Given the description of an element on the screen output the (x, y) to click on. 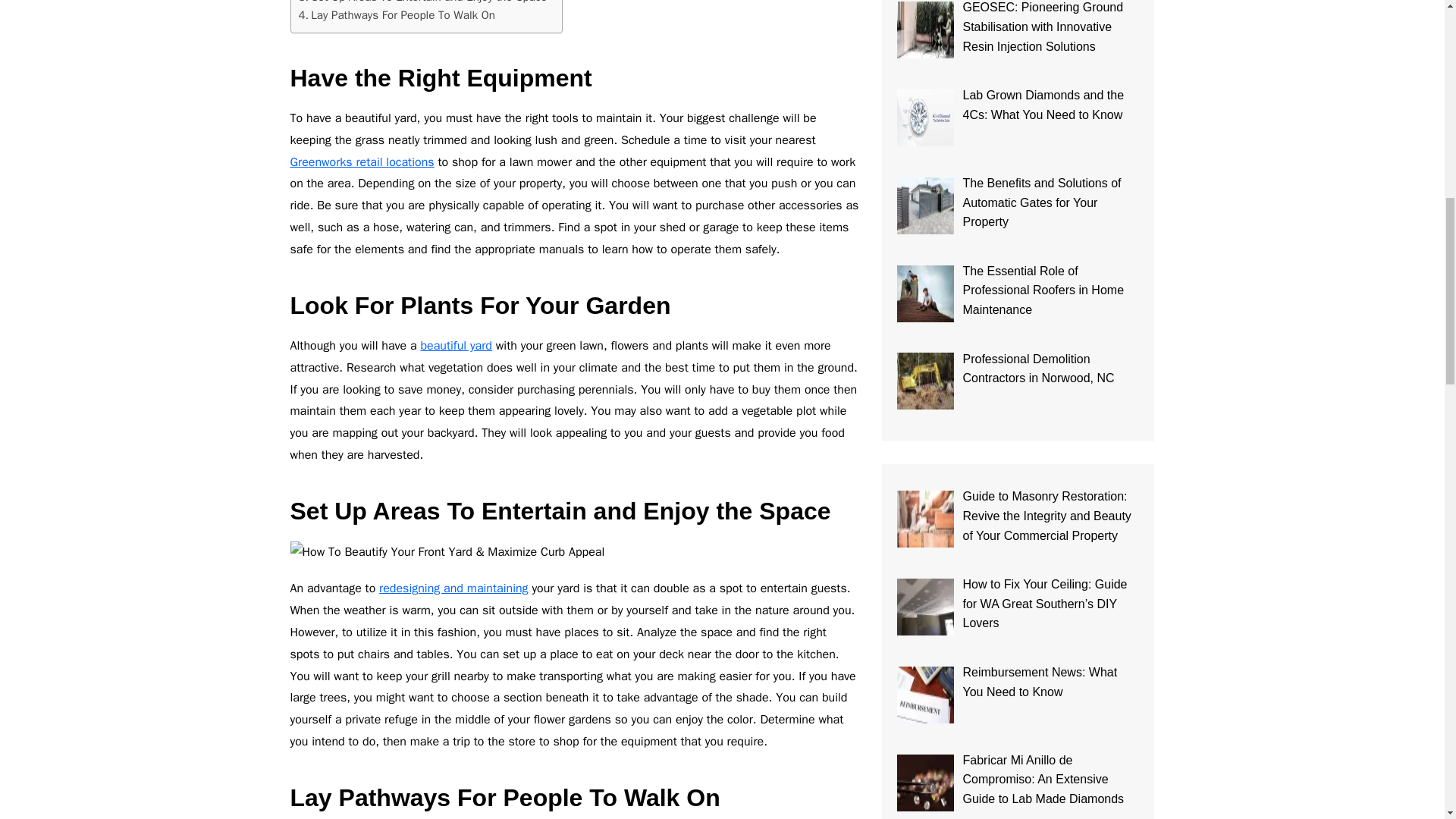
redesigning and maintaining (453, 588)
beautiful yard (456, 345)
Set Up Areas To Entertain and Enjoy the Space (422, 2)
Lay Pathways For People To Walk On (396, 14)
Greenworks retail locations (361, 161)
Lay Pathways For People To Walk On (396, 14)
Set Up Areas To Entertain and Enjoy the Space (422, 2)
